Given the description of an element on the screen output the (x, y) to click on. 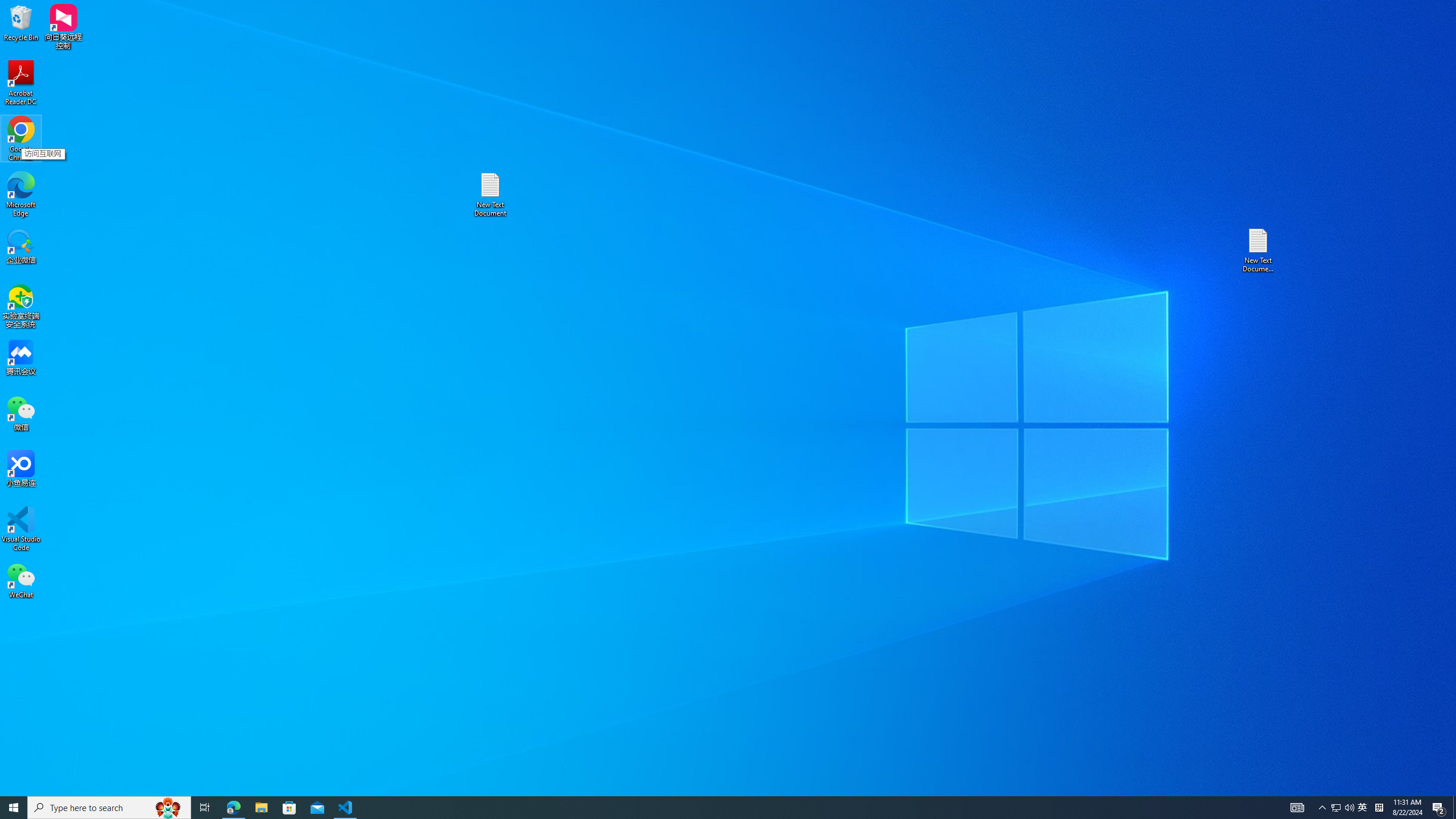
Search highlights icon opens search home window (167, 807)
Microsoft Edge - 1 running window (233, 807)
AutomationID: 4105 (1297, 807)
Tray Input Indicator - Chinese (Simplified, China) (1378, 807)
Visual Studio Code (21, 528)
Google Chrome (21, 138)
Microsoft Edge (21, 194)
Acrobat Reader DC (21, 82)
Notification Chevron (1322, 807)
WeChat (21, 580)
Show desktop (1454, 807)
